Given the description of an element on the screen output the (x, y) to click on. 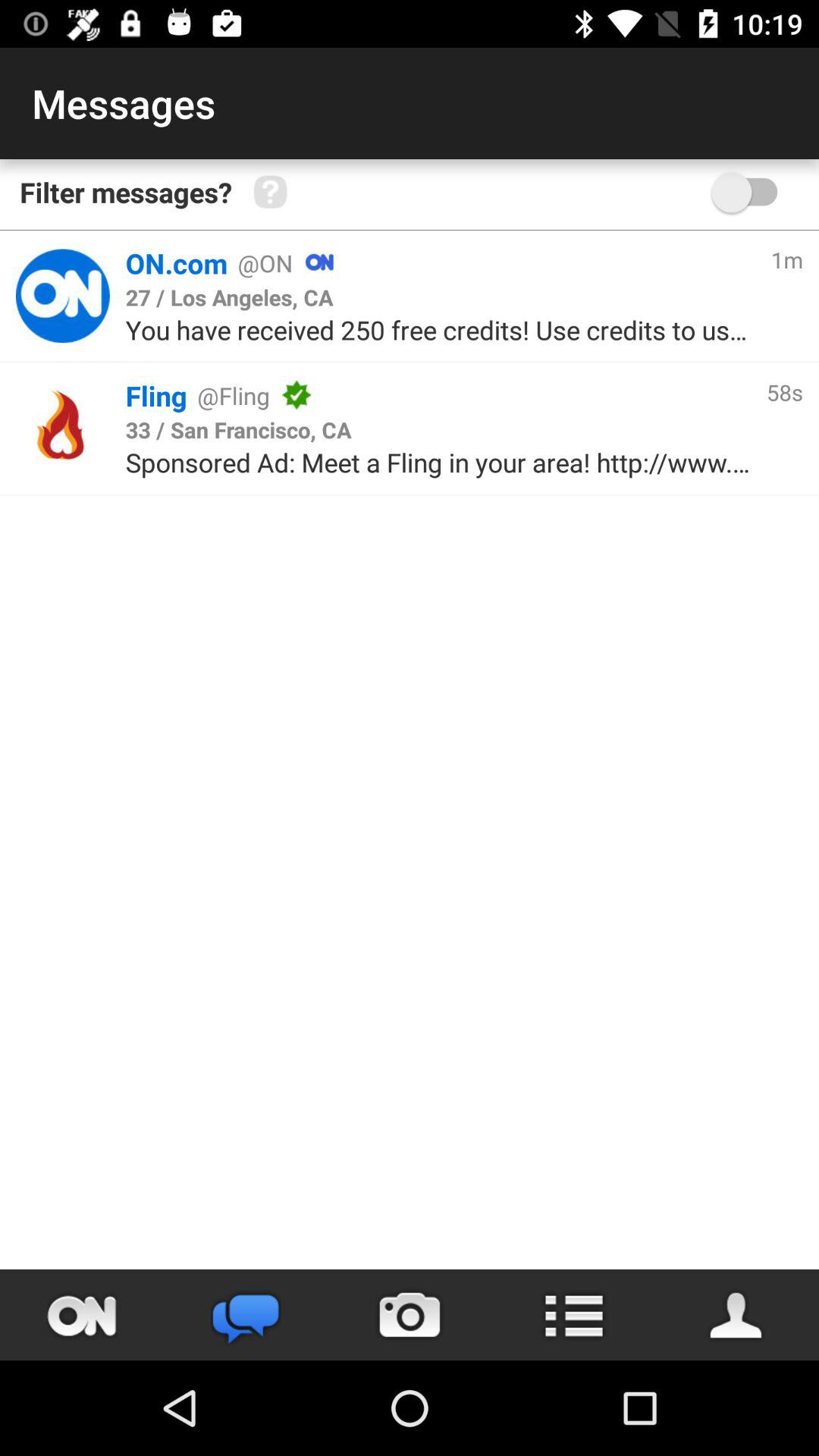
press the icon below on.com icon (229, 297)
